Given the description of an element on the screen output the (x, y) to click on. 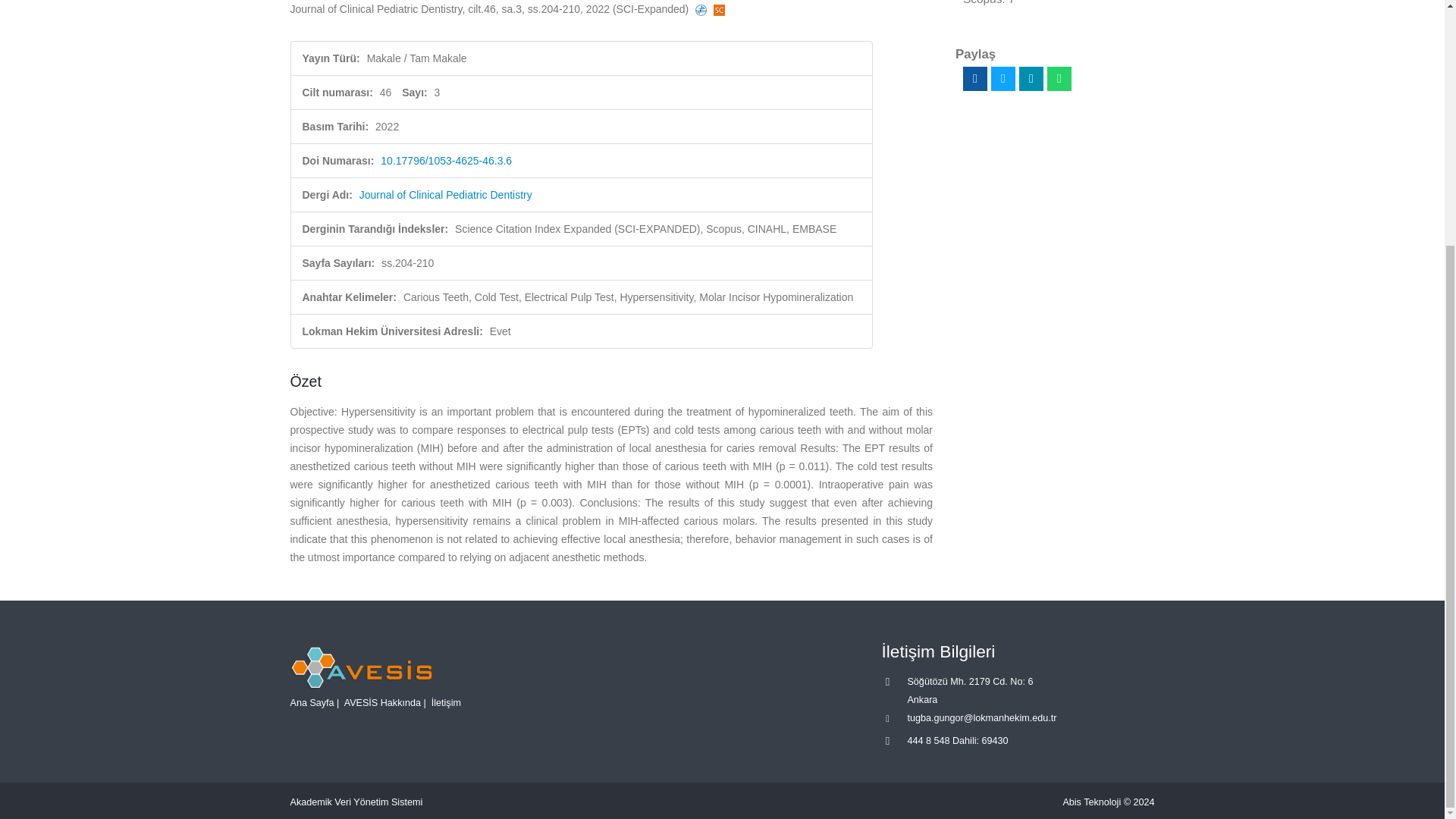
Journal of Clinical Pediatric Dentistry (445, 194)
444 8 548 Dahili: 69430 (957, 740)
Abis Teknoloji (1091, 801)
Ana Sayfa (311, 702)
